Given the description of an element on the screen output the (x, y) to click on. 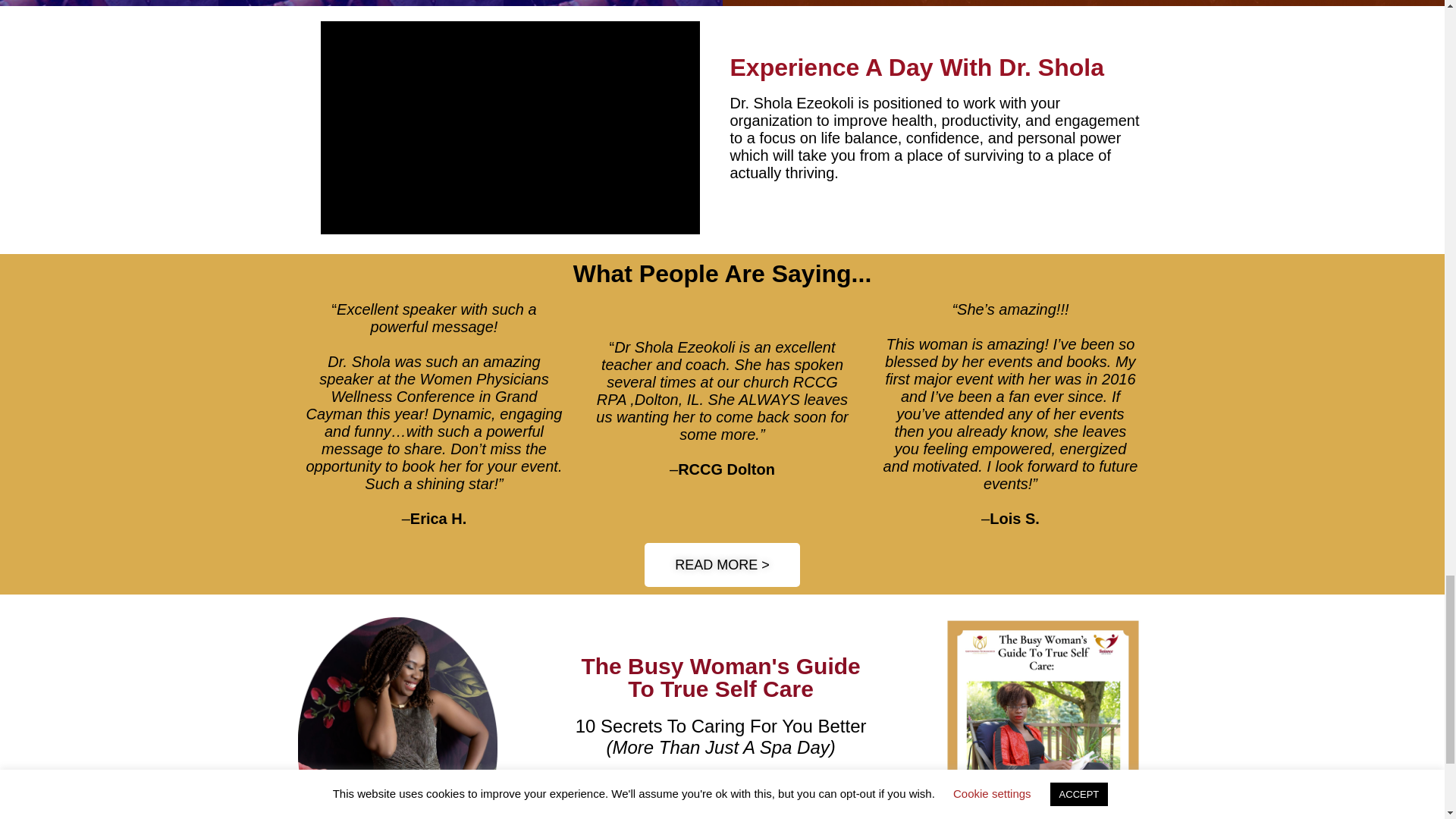
vimeo Video Player (509, 127)
CLICK HERE TO ACCESS NOW FOR FREE! (720, 795)
